Given the description of an element on the screen output the (x, y) to click on. 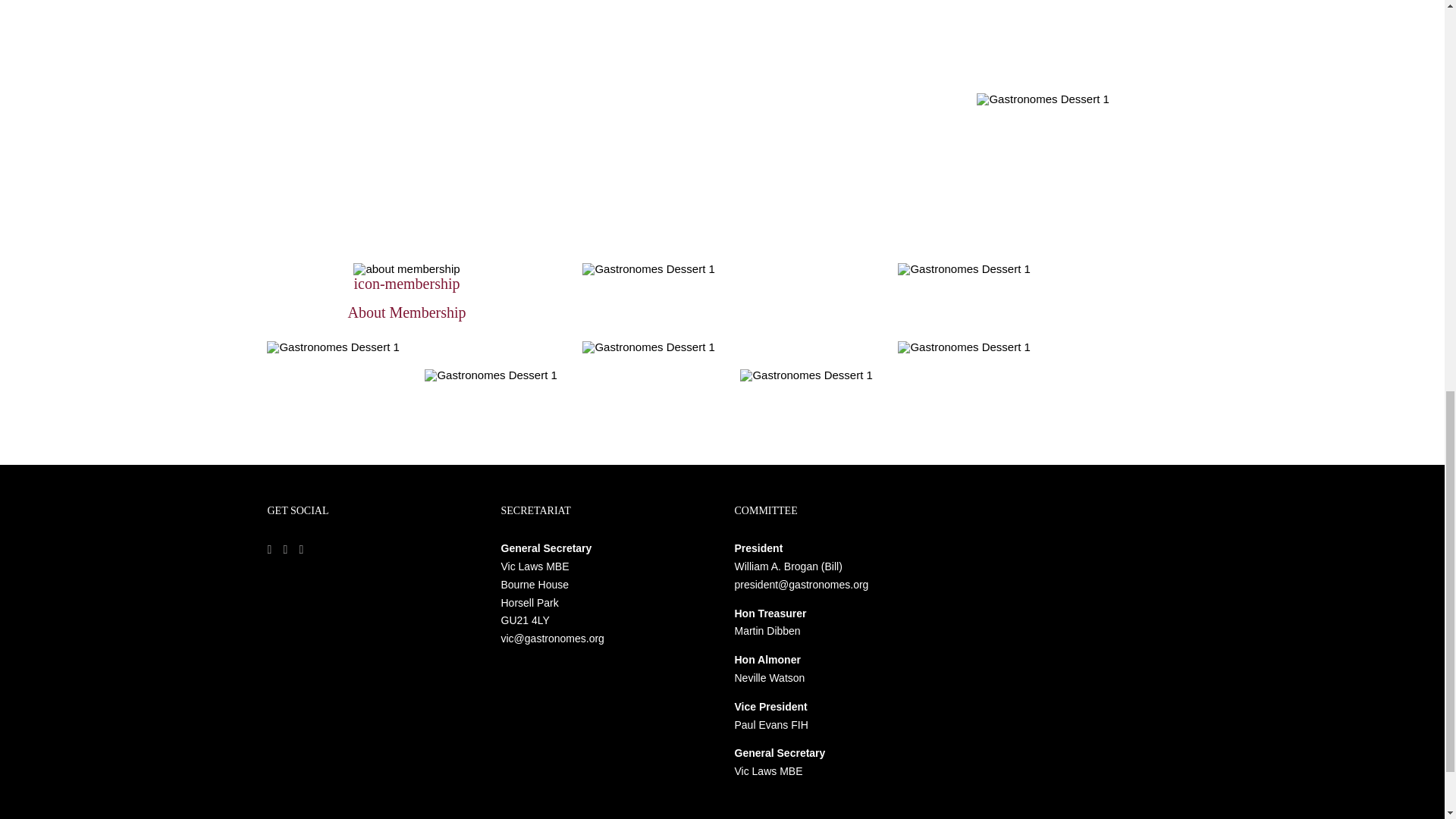
home-dessert1 (963, 268)
home-dessert1 (648, 346)
home-dessert1 (490, 375)
home-dessert1 (648, 268)
icon-membership (406, 268)
home-dessert1 (332, 346)
home-dessert1 (1042, 99)
home-dessert1 (805, 375)
home-dessert1 (963, 346)
